Given the description of an element on the screen output the (x, y) to click on. 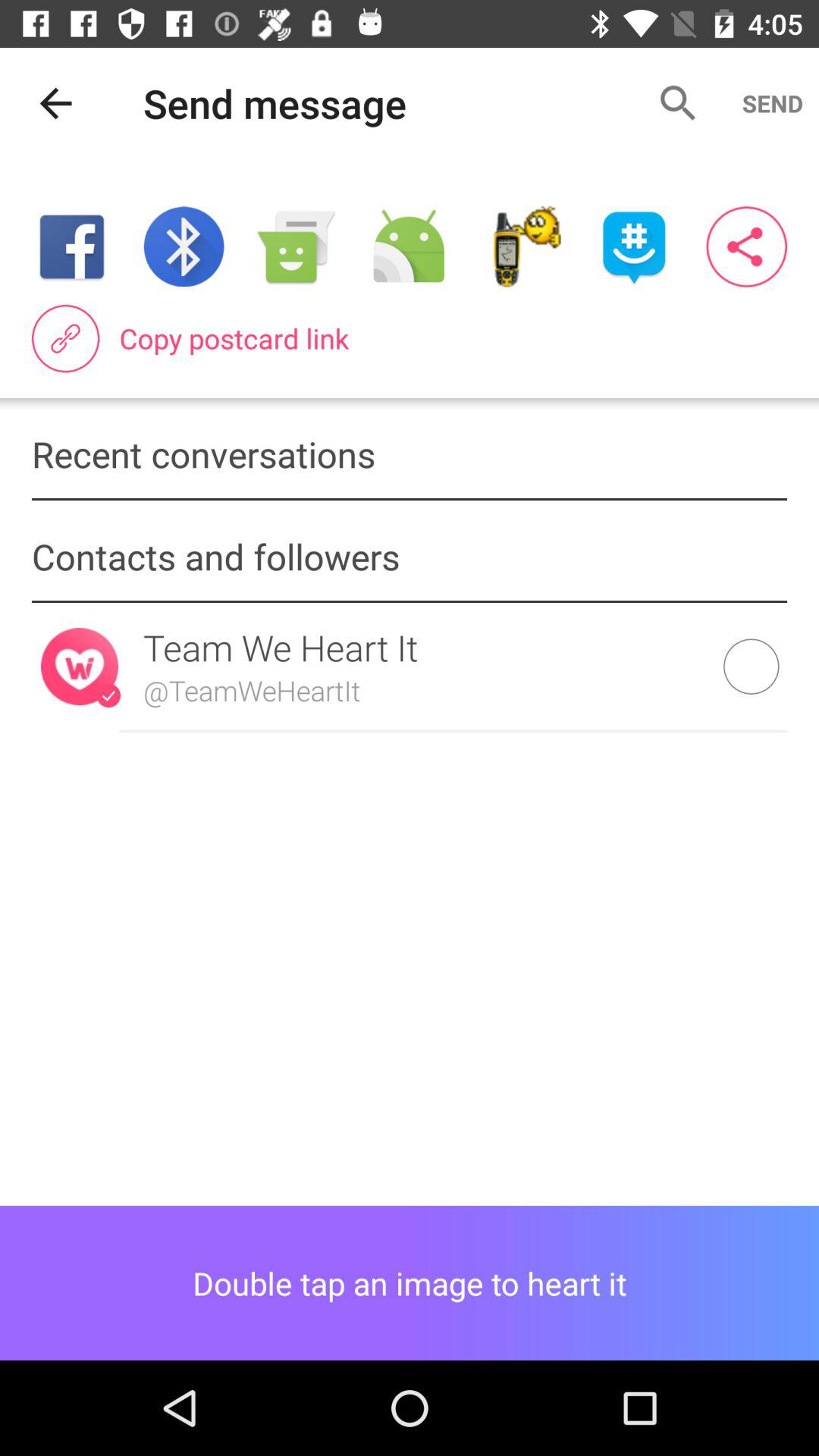
select the item below send message item (183, 246)
